Given the description of an element on the screen output the (x, y) to click on. 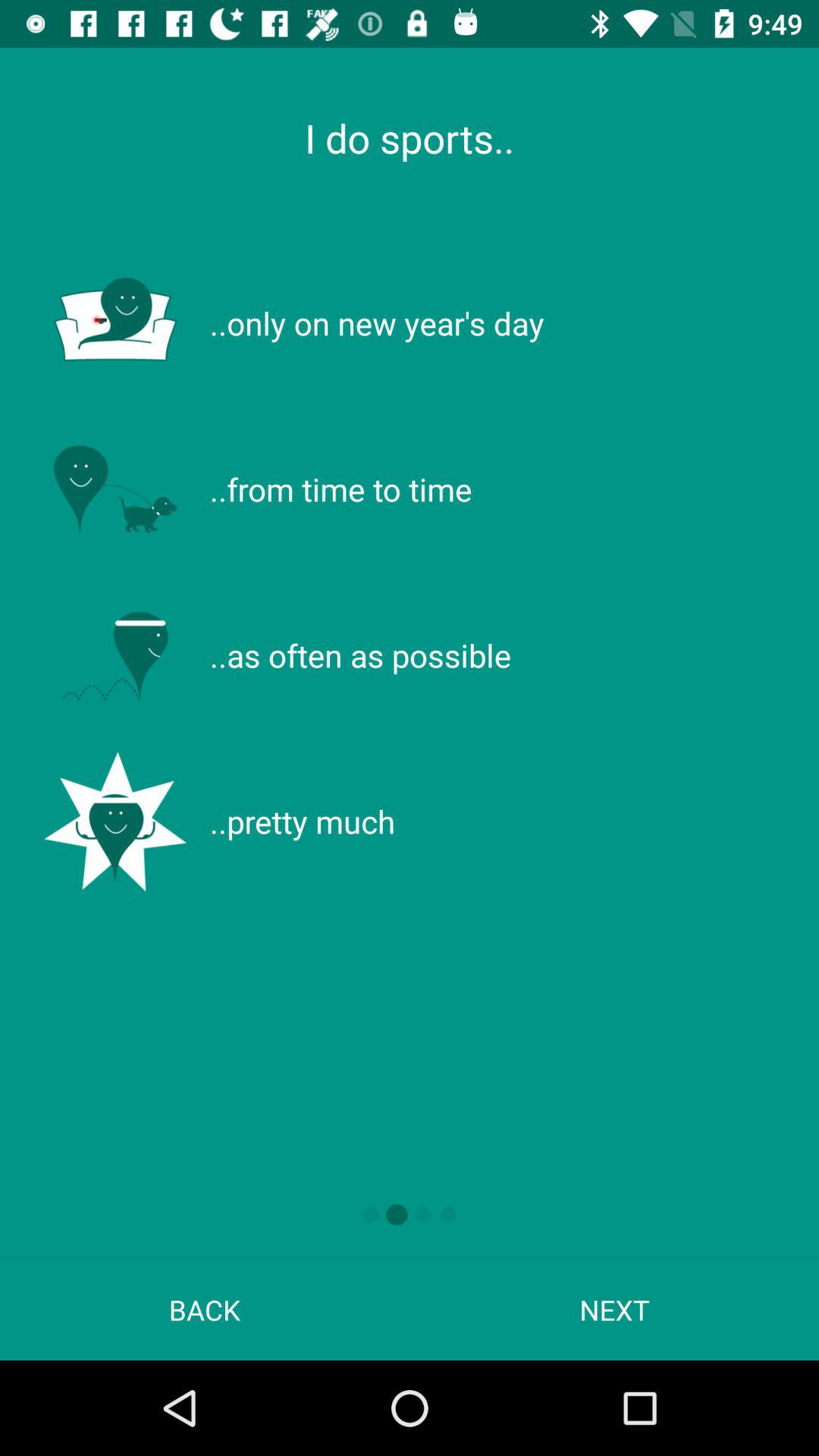
turn off back at the bottom left corner (204, 1309)
